Given the description of an element on the screen output the (x, y) to click on. 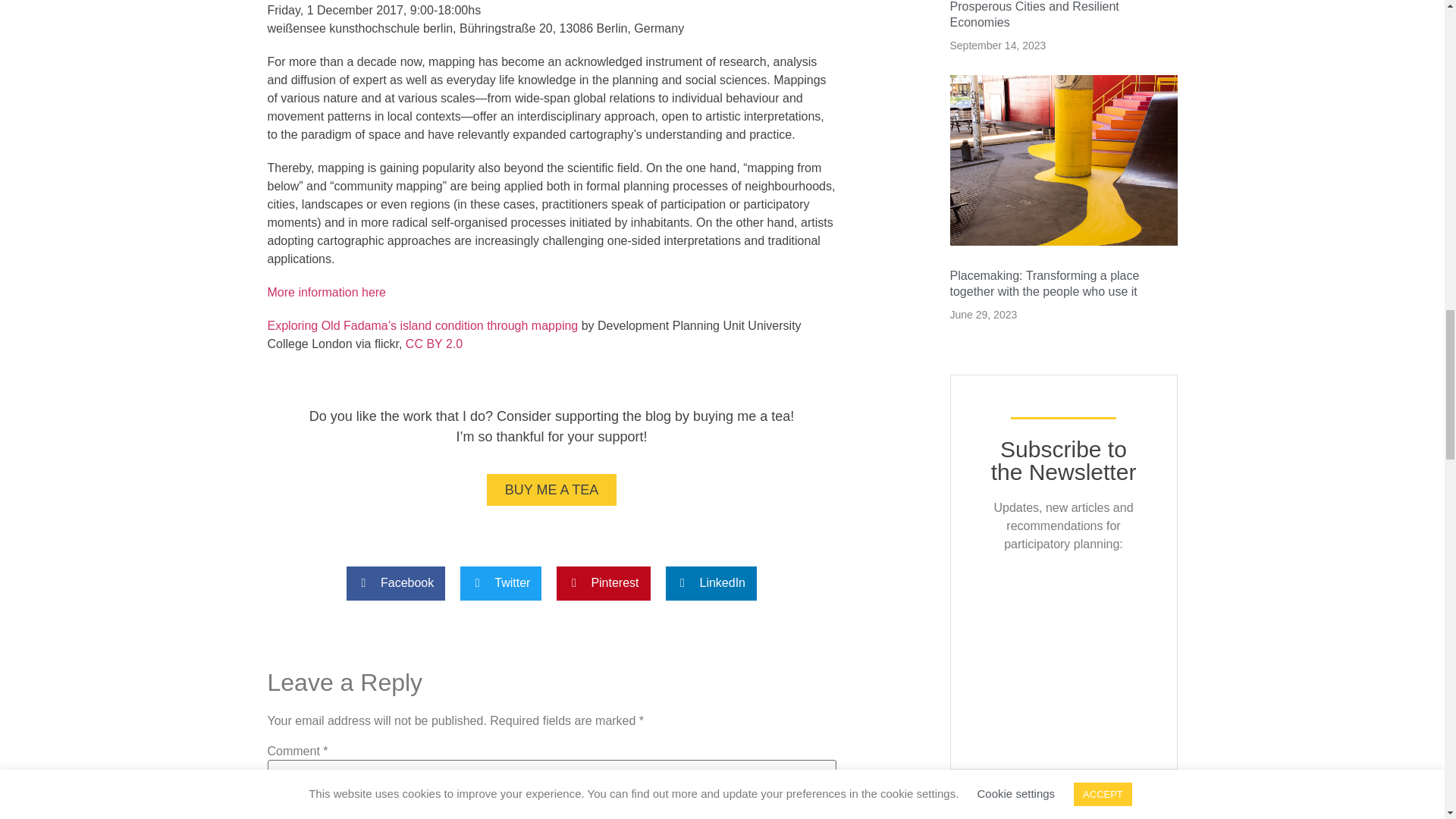
CC BY 2.0 (434, 343)
More information here (325, 291)
BUY ME A TEA (550, 490)
